Given the description of an element on the screen output the (x, y) to click on. 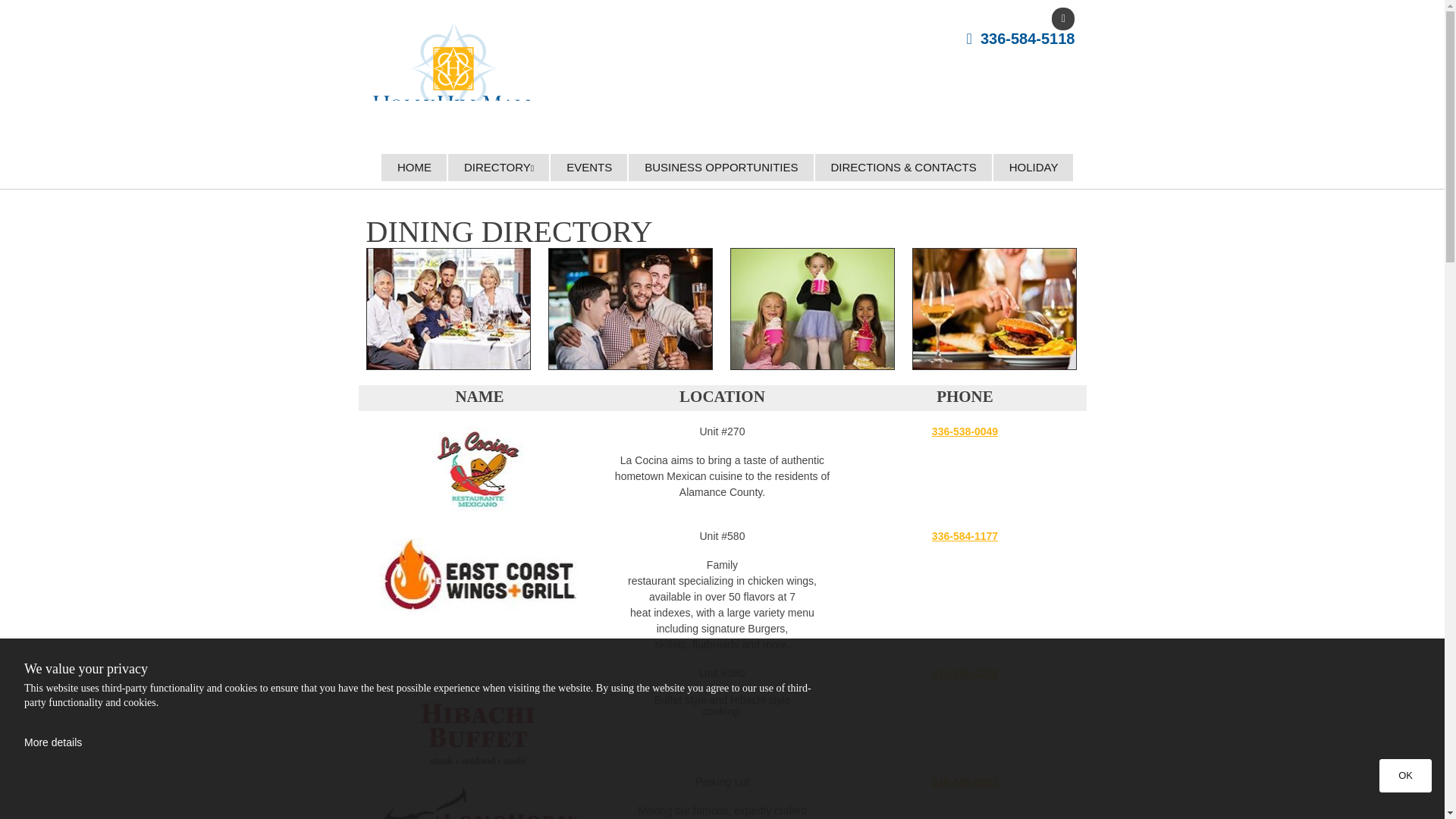
HOME (413, 166)
More details (52, 742)
BUSINESS OPPORTUNITIES (720, 166)
EVENTS (588, 166)
Skip to content (48, 7)
HOLIDAY (1033, 166)
336-584-1177 (964, 535)
OK (1404, 775)
DIRECTORY (498, 166)
336-586-0082 (964, 780)
